Given the description of an element on the screen output the (x, y) to click on. 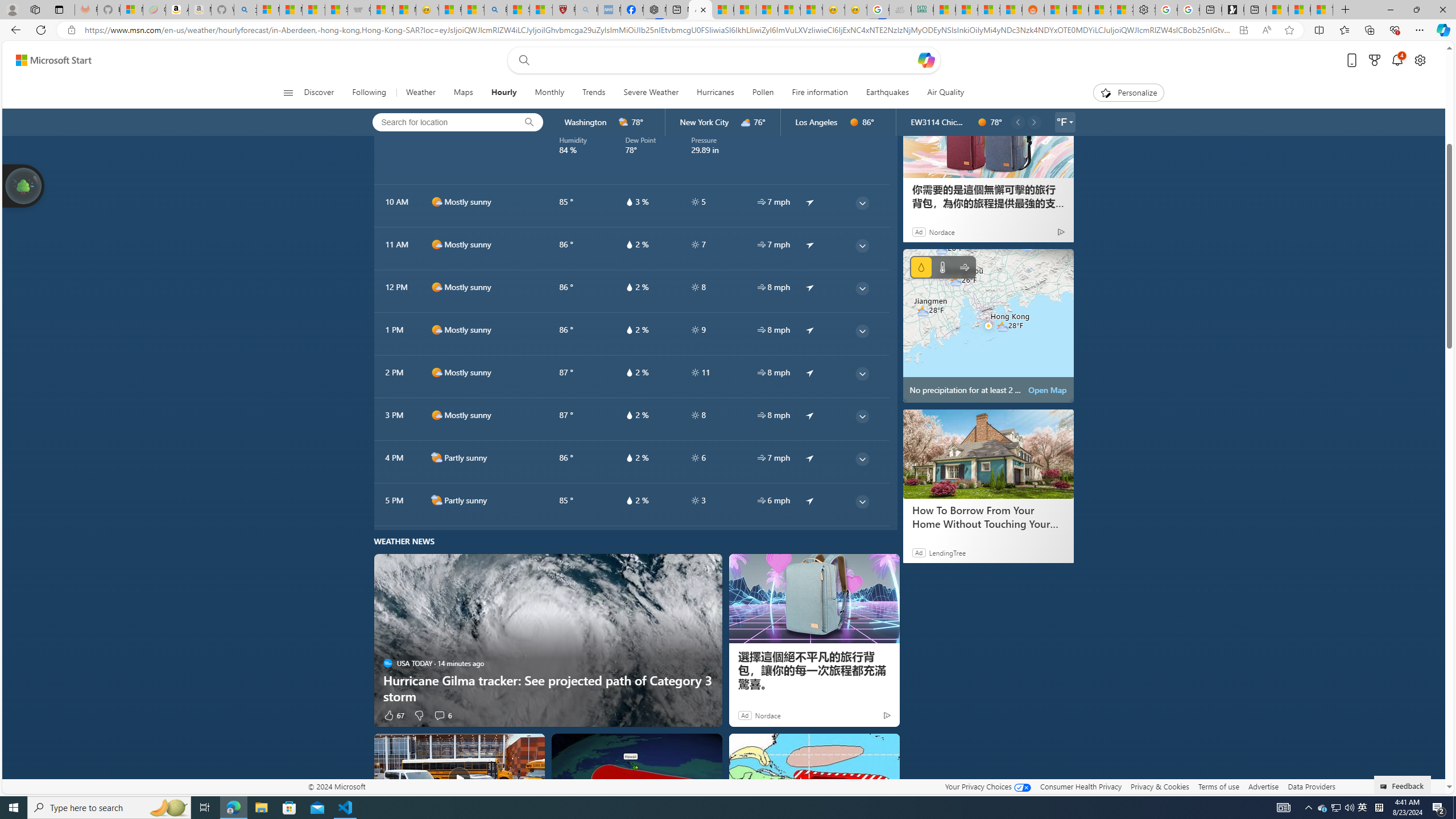
View comments 6 Comment (442, 714)
No precipitation for at least 2 hours (988, 325)
